Given the description of an element on the screen output the (x, y) to click on. 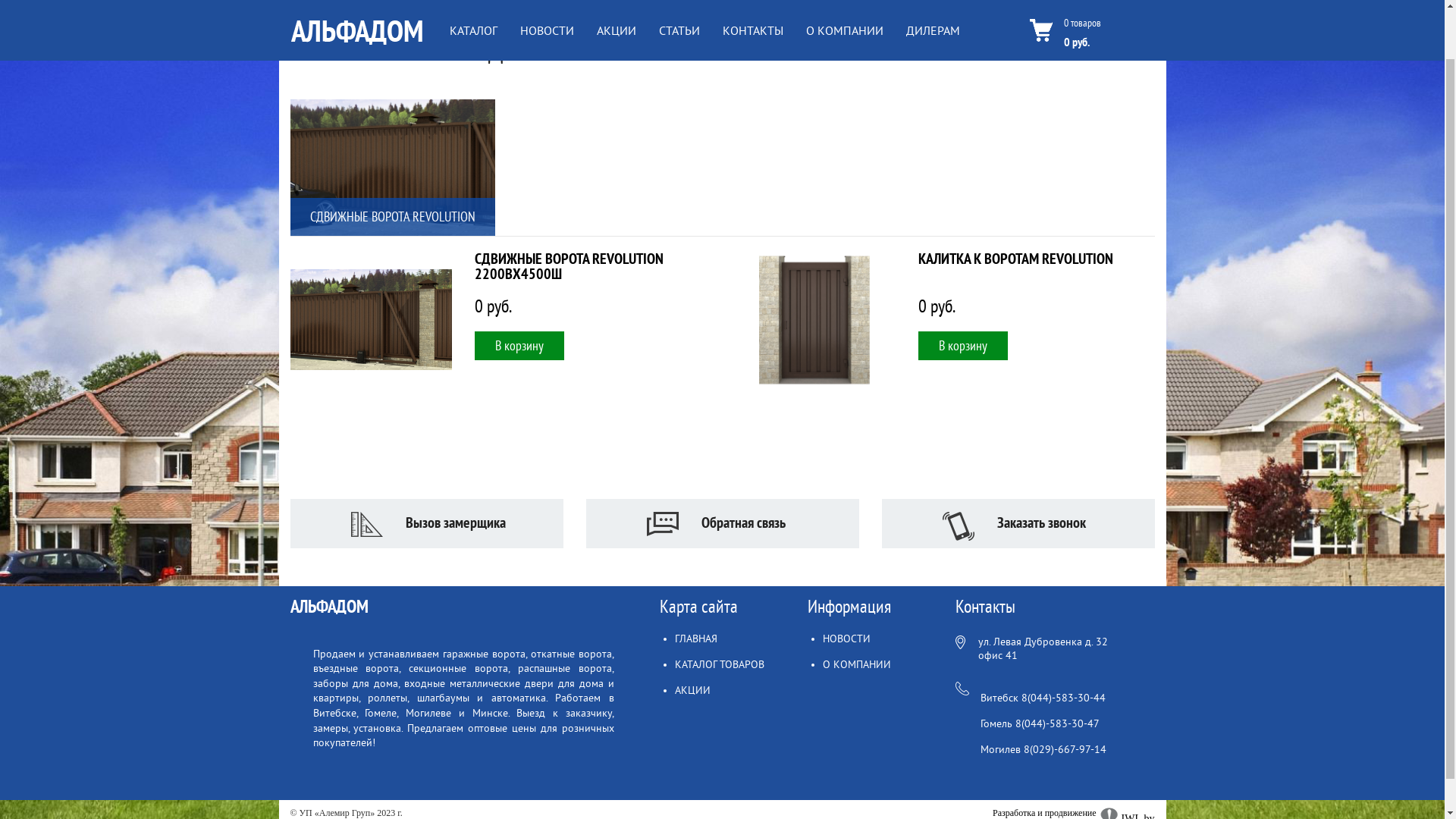
logo Element type: hover (355, 87)
